Given the description of an element on the screen output the (x, y) to click on. 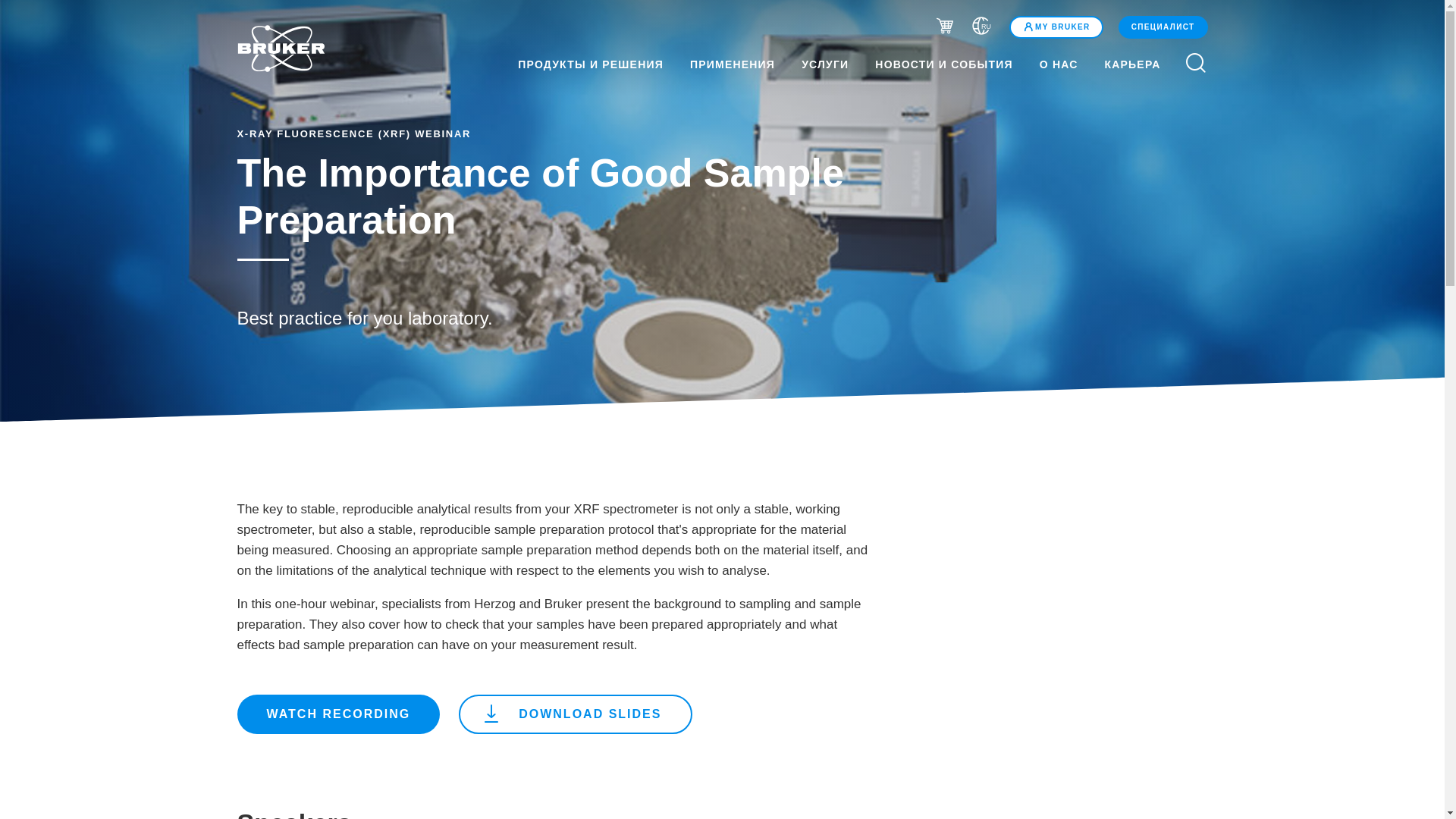
DOWNLOAD SLIDES (575, 713)
WATCH RECORDING (337, 713)
MY BRUKER (1056, 26)
